Given the description of an element on the screen output the (x, y) to click on. 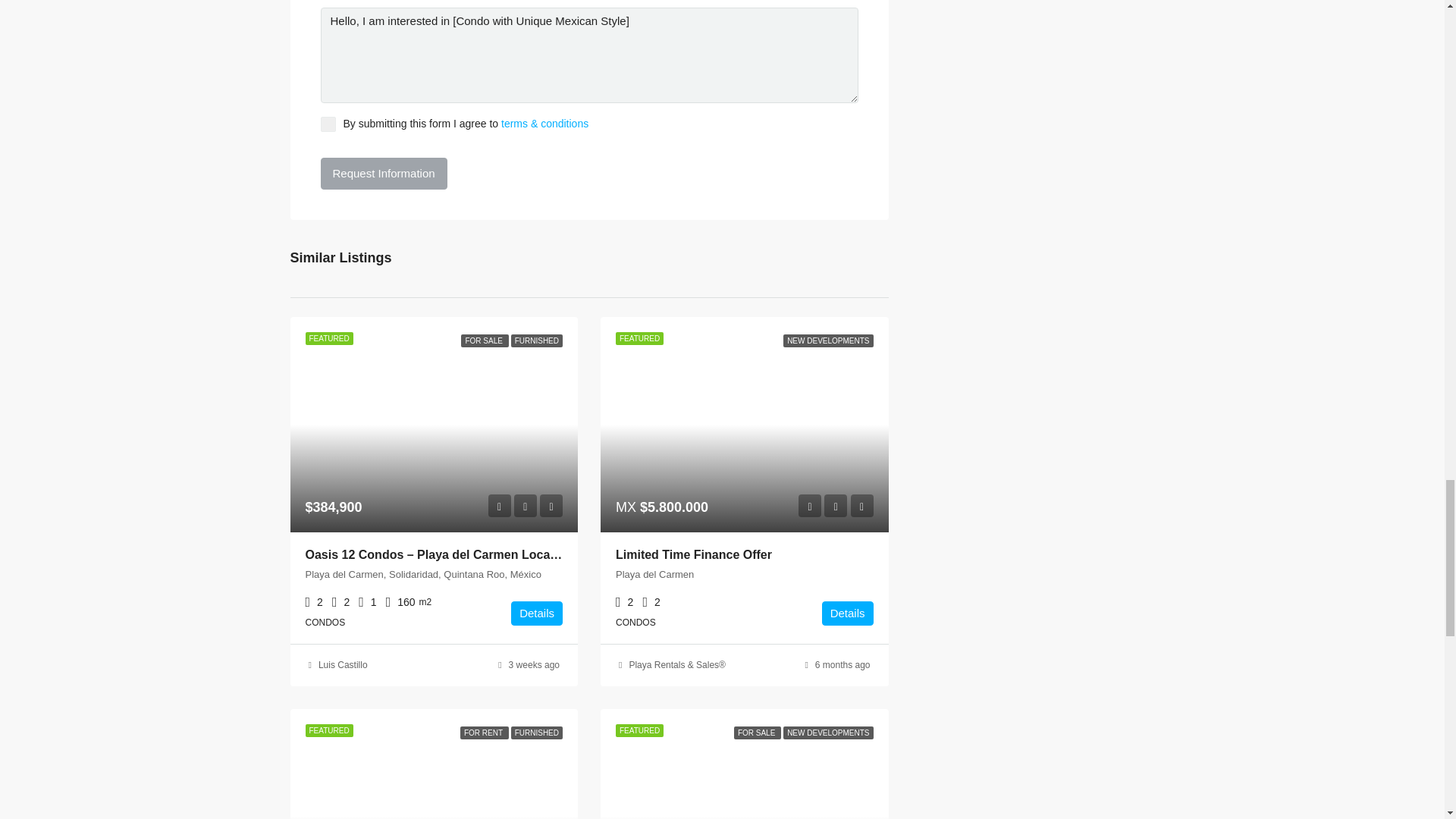
Favourite (525, 505)
Preview (809, 505)
Add to Compare (551, 505)
Preview (499, 505)
Favourite (835, 505)
Add to Compare (861, 505)
